Given the description of an element on the screen output the (x, y) to click on. 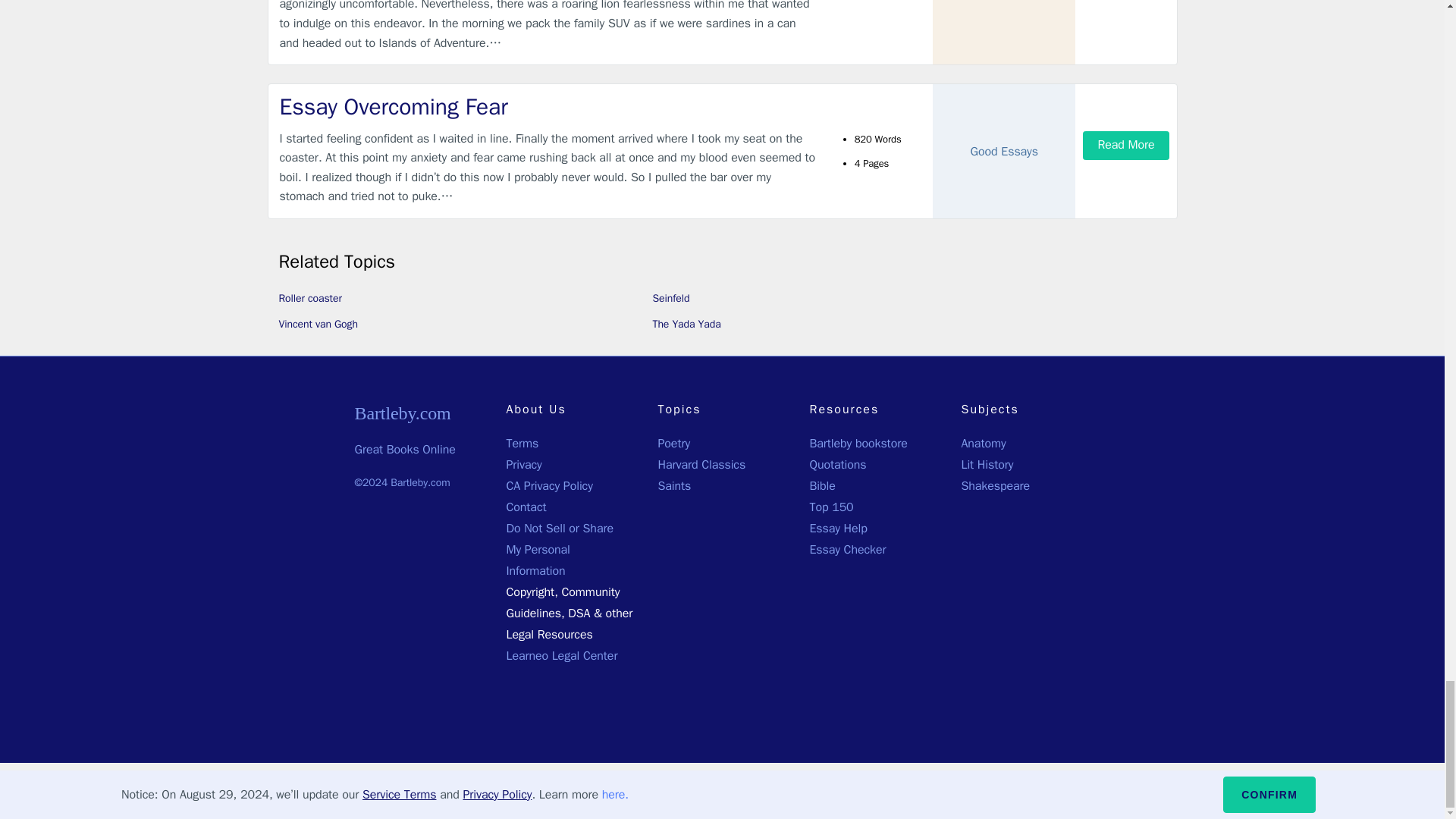
The Yada Yada (686, 323)
Seinfeld (670, 297)
Vincent van Gogh (318, 323)
Roller coaster (310, 297)
